Given the description of an element on the screen output the (x, y) to click on. 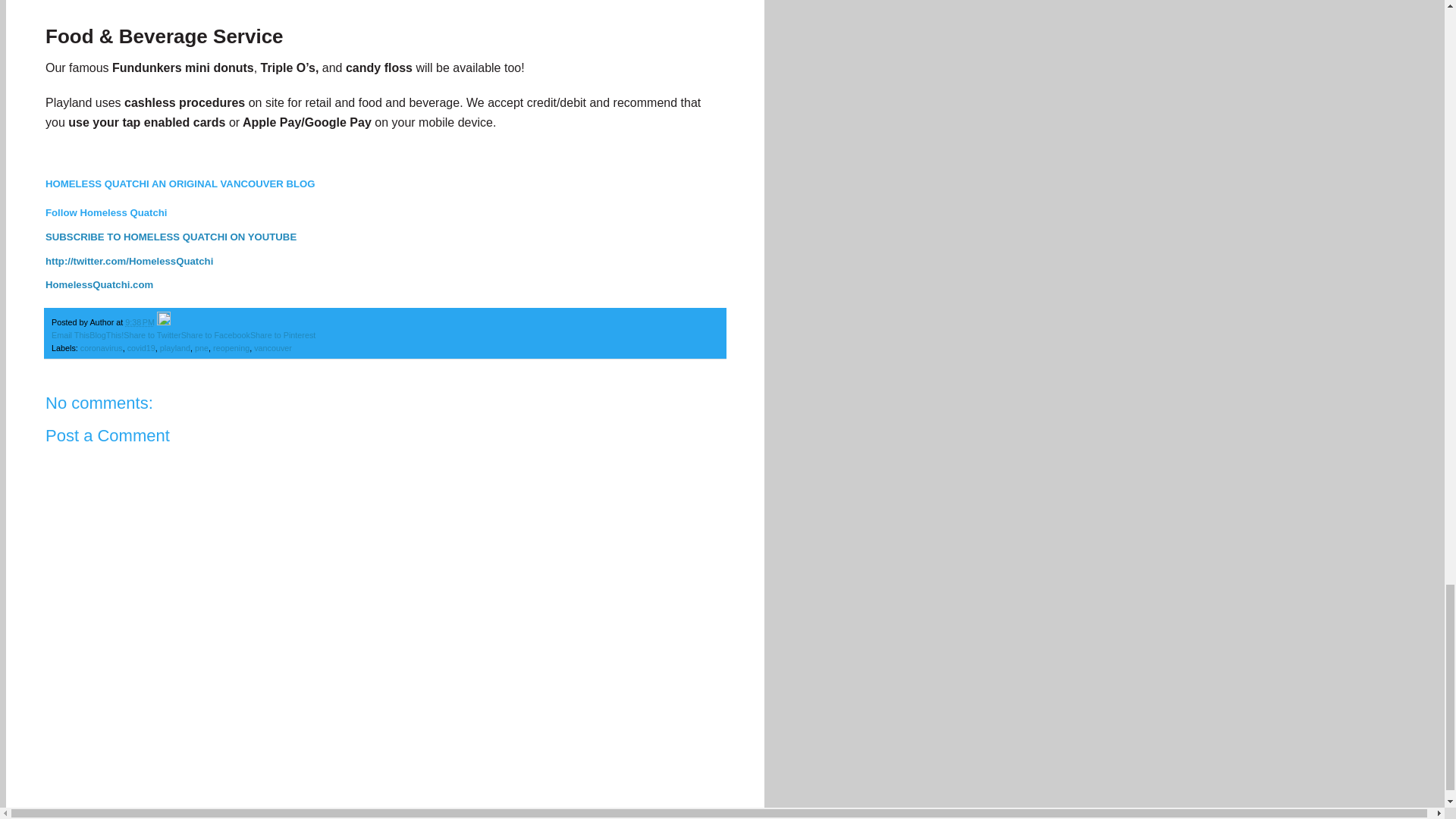
Email This (69, 334)
pne (201, 347)
reopening (230, 347)
covid19 (141, 347)
coronavirus (101, 347)
playland (175, 347)
Edit Post (163, 321)
Share to Facebook (215, 334)
HomelessQuatchi.com  (100, 284)
